Given the description of an element on the screen output the (x, y) to click on. 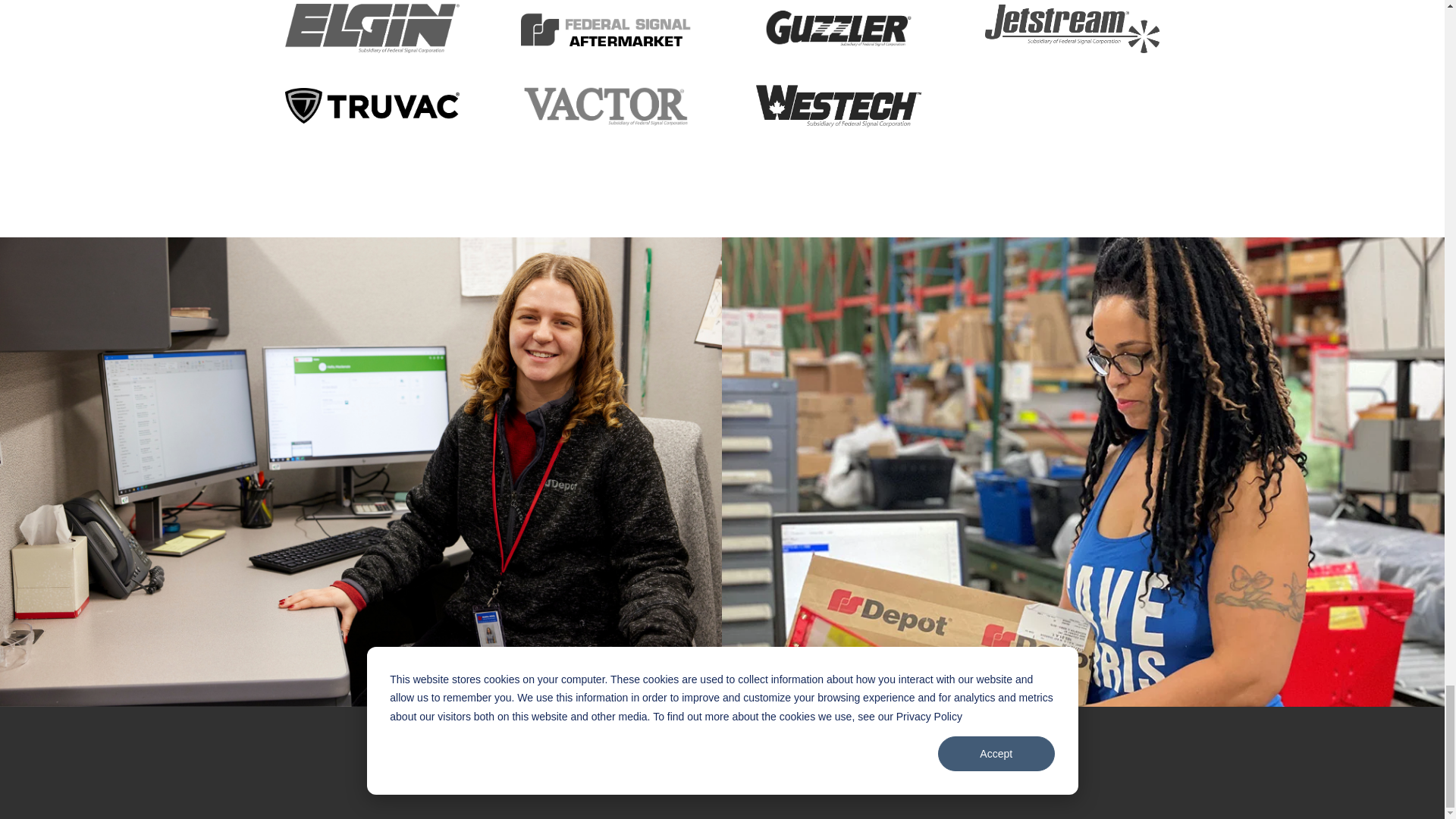
Privacy Policy (647, 753)
